Given the description of an element on the screen output the (x, y) to click on. 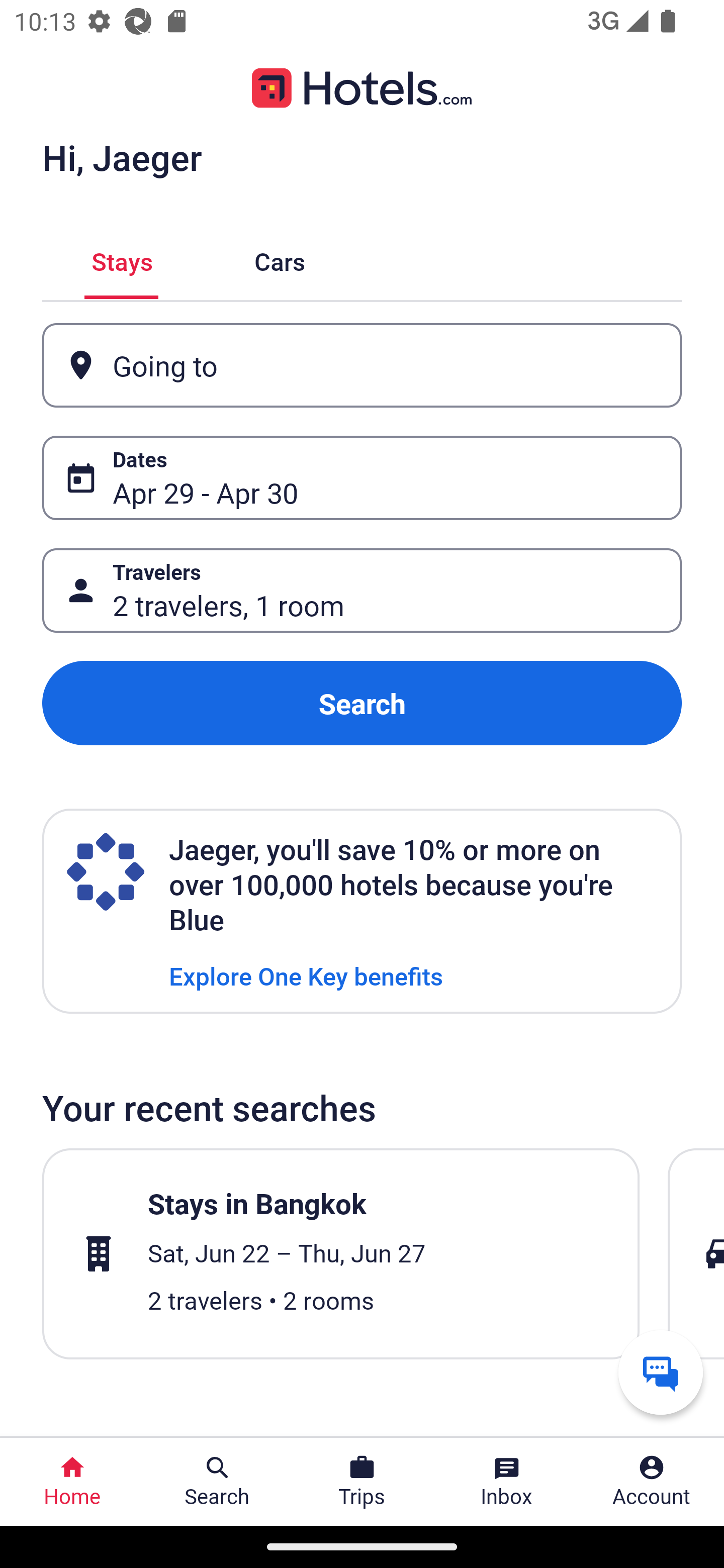
Hi, Jaeger (121, 156)
Cars (279, 259)
Going to Button (361, 365)
Dates Button Apr 29 - Apr 30 (361, 477)
Travelers Button 2 travelers, 1 room (361, 590)
Search (361, 702)
Get help from a virtual agent (660, 1371)
Search Search Button (216, 1481)
Trips Trips Button (361, 1481)
Inbox Inbox Button (506, 1481)
Account Profile. Button (651, 1481)
